Given the description of an element on the screen output the (x, y) to click on. 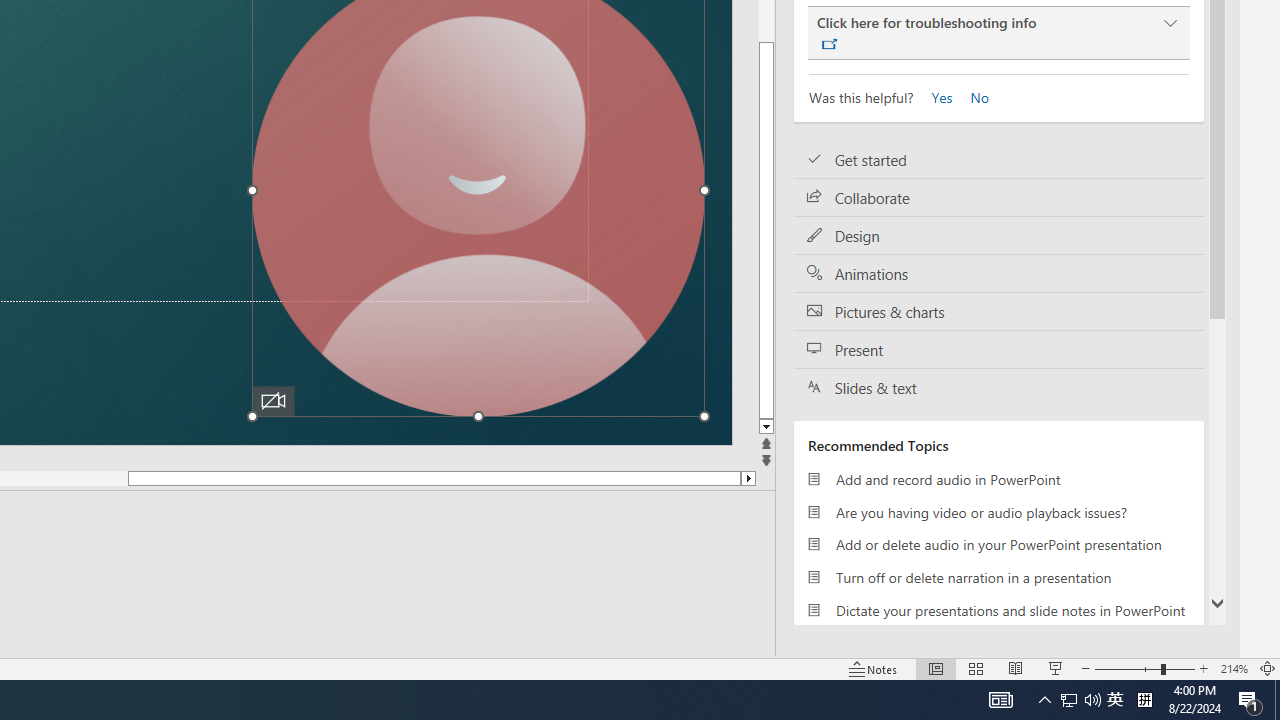
Dictate your presentations and slide notes in PowerPoint (998, 610)
Zoom 214% (1234, 668)
Click here for troubleshooting info (998, 33)
Present (998, 349)
Add or delete audio in your PowerPoint presentation (998, 544)
No (972, 96)
